Given the description of an element on the screen output the (x, y) to click on. 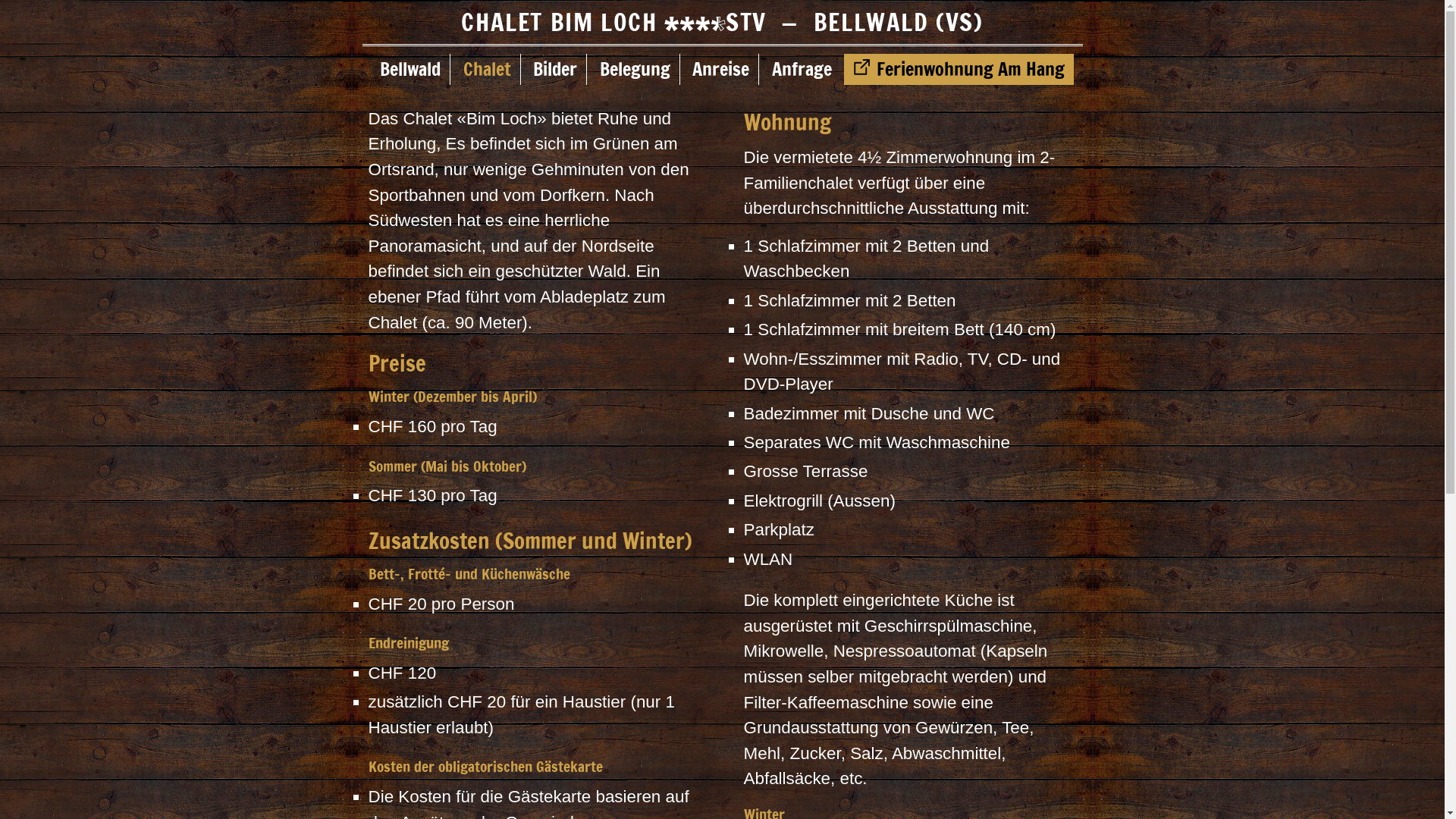
Anfrage Element type: text (801, 68)
Bilder Element type: text (555, 68)
Anreise Element type: text (721, 68)
Ferienwohnung Am Hang Element type: text (958, 68)
Belegung Element type: text (635, 68)
Bellwald Element type: text (410, 68)
Chalet Element type: text (487, 68)
